Given the description of an element on the screen output the (x, y) to click on. 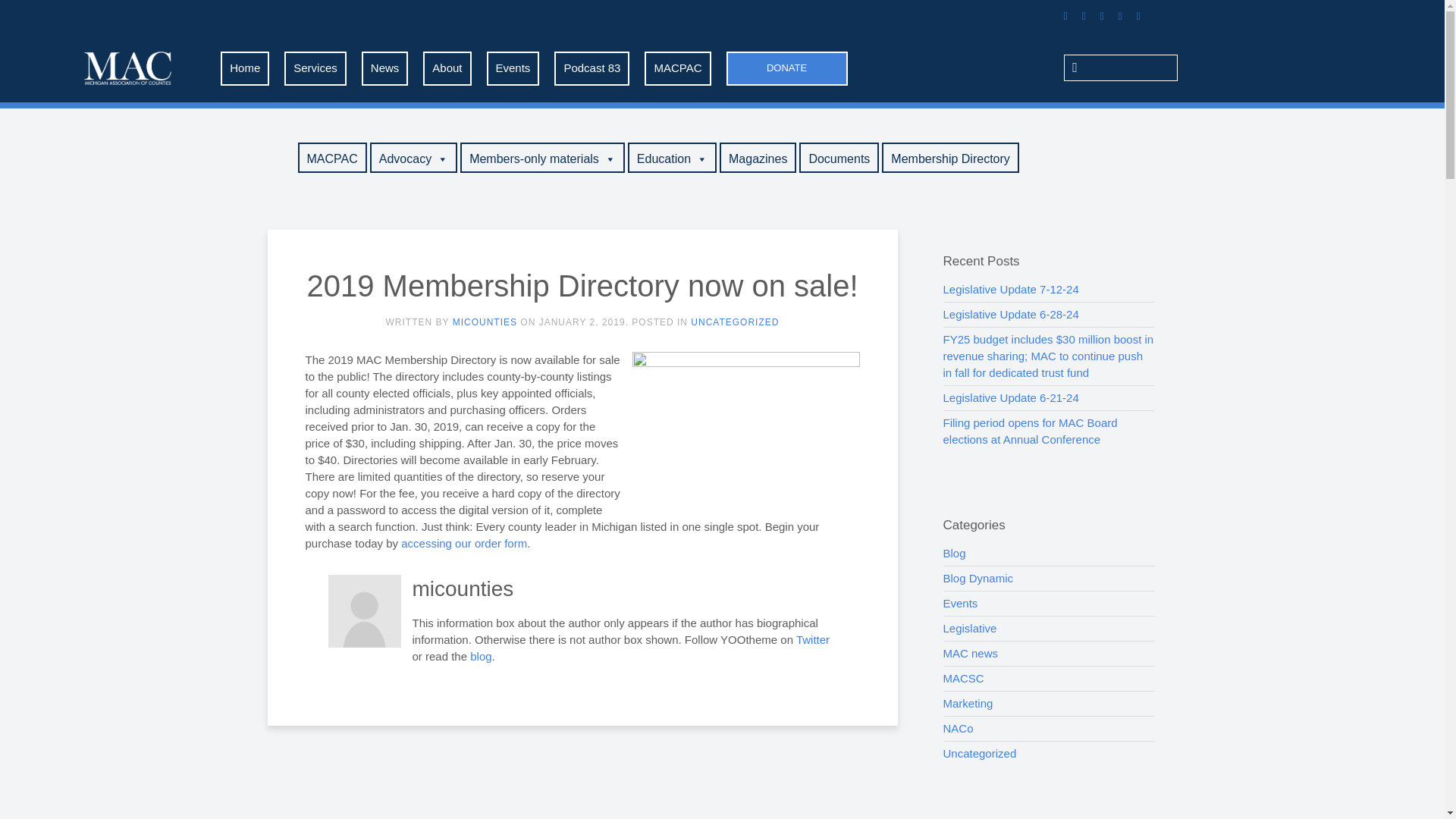
Home (245, 68)
Podcast 83 (591, 68)
micounties (484, 321)
MACPAC (331, 157)
MACPAC (677, 68)
News (385, 68)
About (446, 68)
Advocacy (413, 157)
Services (314, 68)
DONATE (786, 68)
Members-only materials (542, 157)
Events (513, 68)
